Given the description of an element on the screen output the (x, y) to click on. 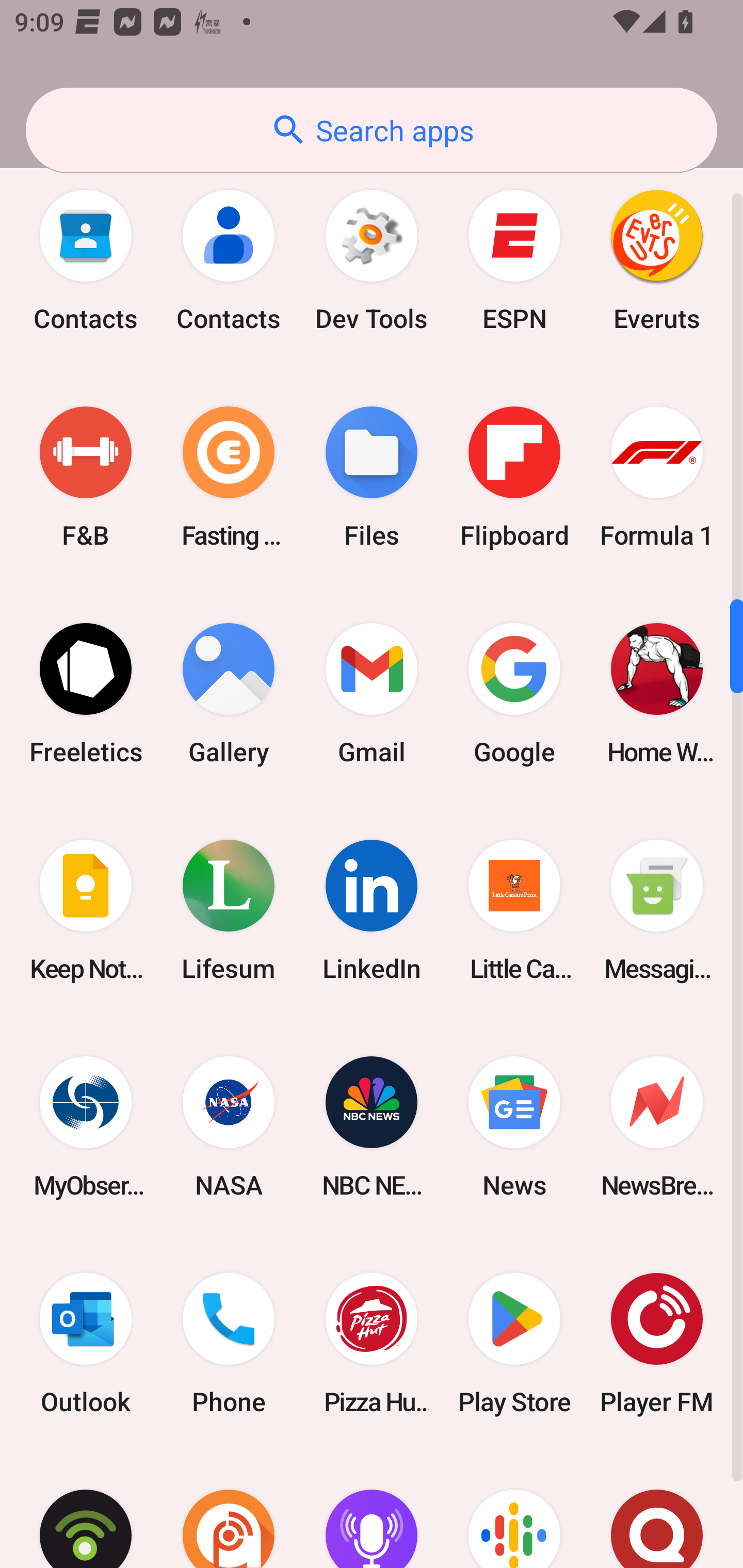
  Search apps (371, 130)
Contacts (85, 260)
Contacts (228, 260)
Dev Tools (371, 260)
ESPN (514, 260)
Everuts (656, 260)
F&B (85, 476)
Fasting Coach (228, 476)
Files (371, 476)
Flipboard (514, 476)
Formula 1 (656, 476)
Freeletics (85, 693)
Gallery (228, 693)
Gmail (371, 693)
Google (514, 693)
Home Workout (656, 693)
Keep Notes (85, 910)
Lifesum (228, 910)
LinkedIn (371, 910)
Little Caesars Pizza (514, 910)
Messaging (656, 910)
MyObservatory (85, 1127)
NASA (228, 1127)
NBC NEWS (371, 1127)
News (514, 1127)
NewsBreak (656, 1127)
Outlook (85, 1343)
Phone (228, 1343)
Pizza Hut HK & Macau (371, 1343)
Play Store (514, 1343)
Player FM (656, 1343)
